Given the description of an element on the screen output the (x, y) to click on. 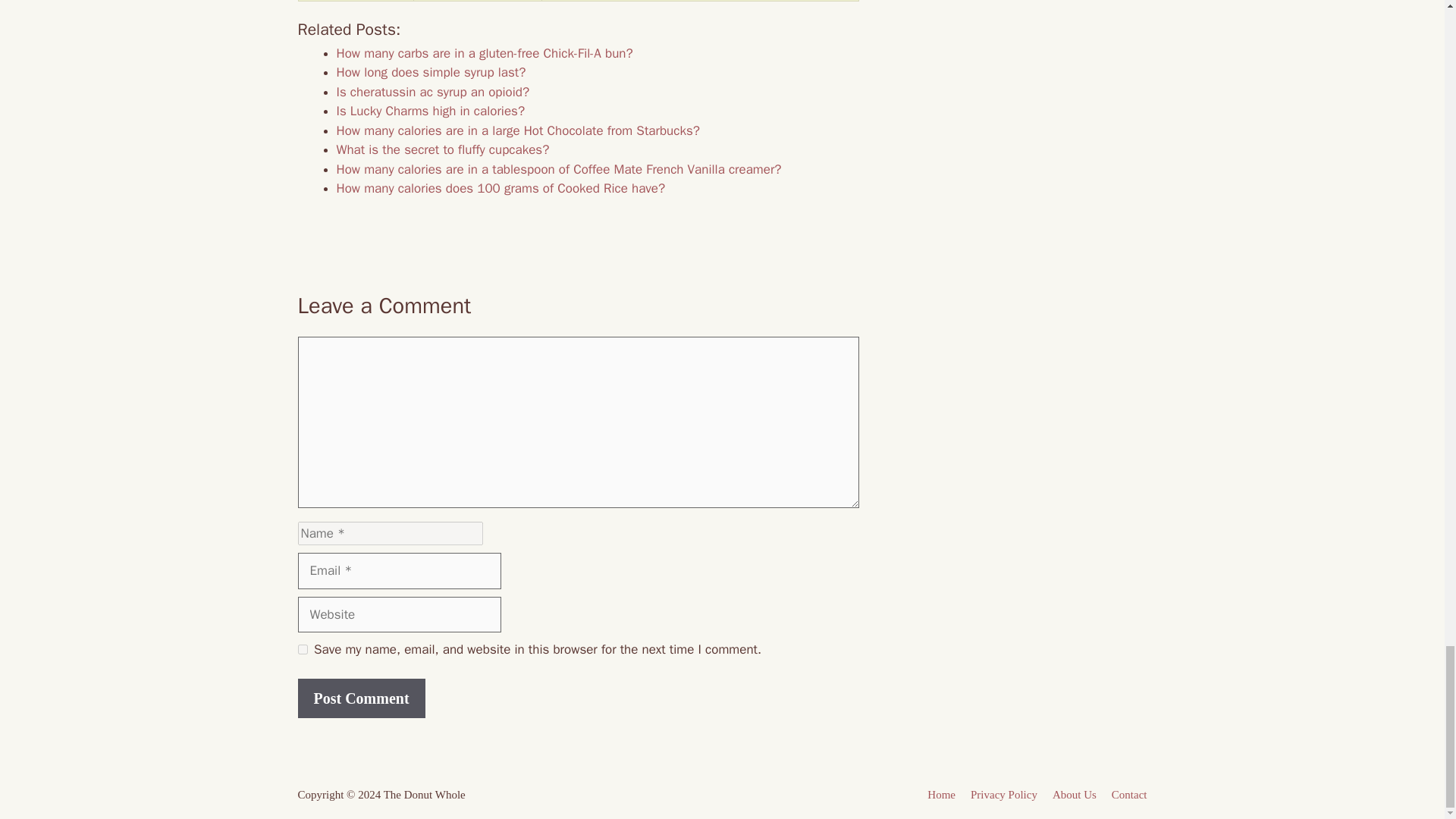
Post Comment (361, 698)
How many calories does 100 grams of Cooked Rice have? (500, 188)
How many carbs are in a gluten-free Chick-Fil-A bun? (484, 53)
How long does simple syrup last? (430, 72)
What is the secret to fluffy cupcakes? (443, 149)
Is cheratussin ac syrup an opioid? (432, 91)
Is Lucky Charms high in calories? (430, 110)
Post Comment (361, 698)
